Given the description of an element on the screen output the (x, y) to click on. 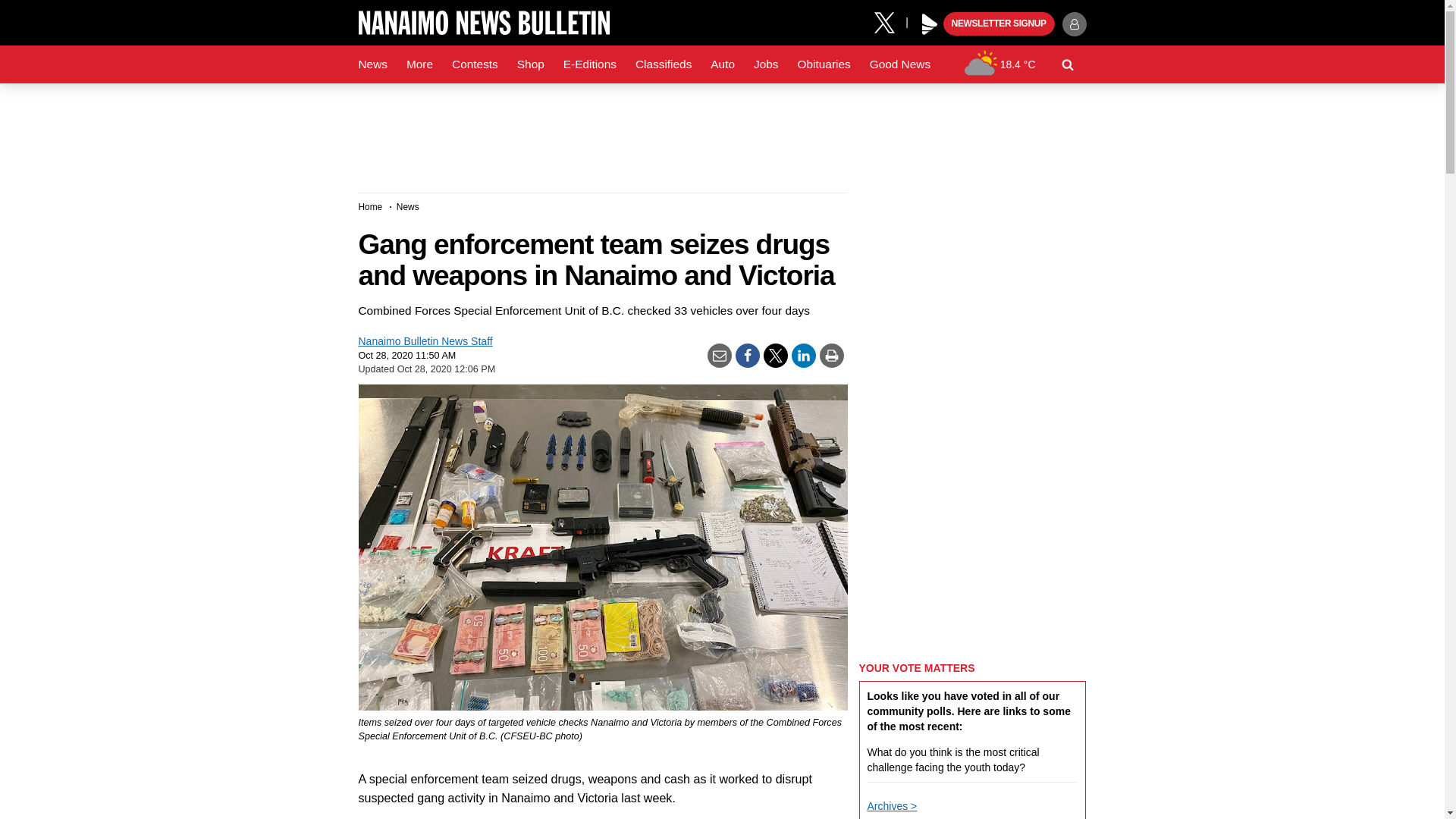
News (372, 64)
3rd party ad content (721, 131)
Black Press Media (929, 24)
NEWSLETTER SIGNUP (998, 24)
X (889, 21)
Play (929, 24)
